Given the description of an element on the screen output the (x, y) to click on. 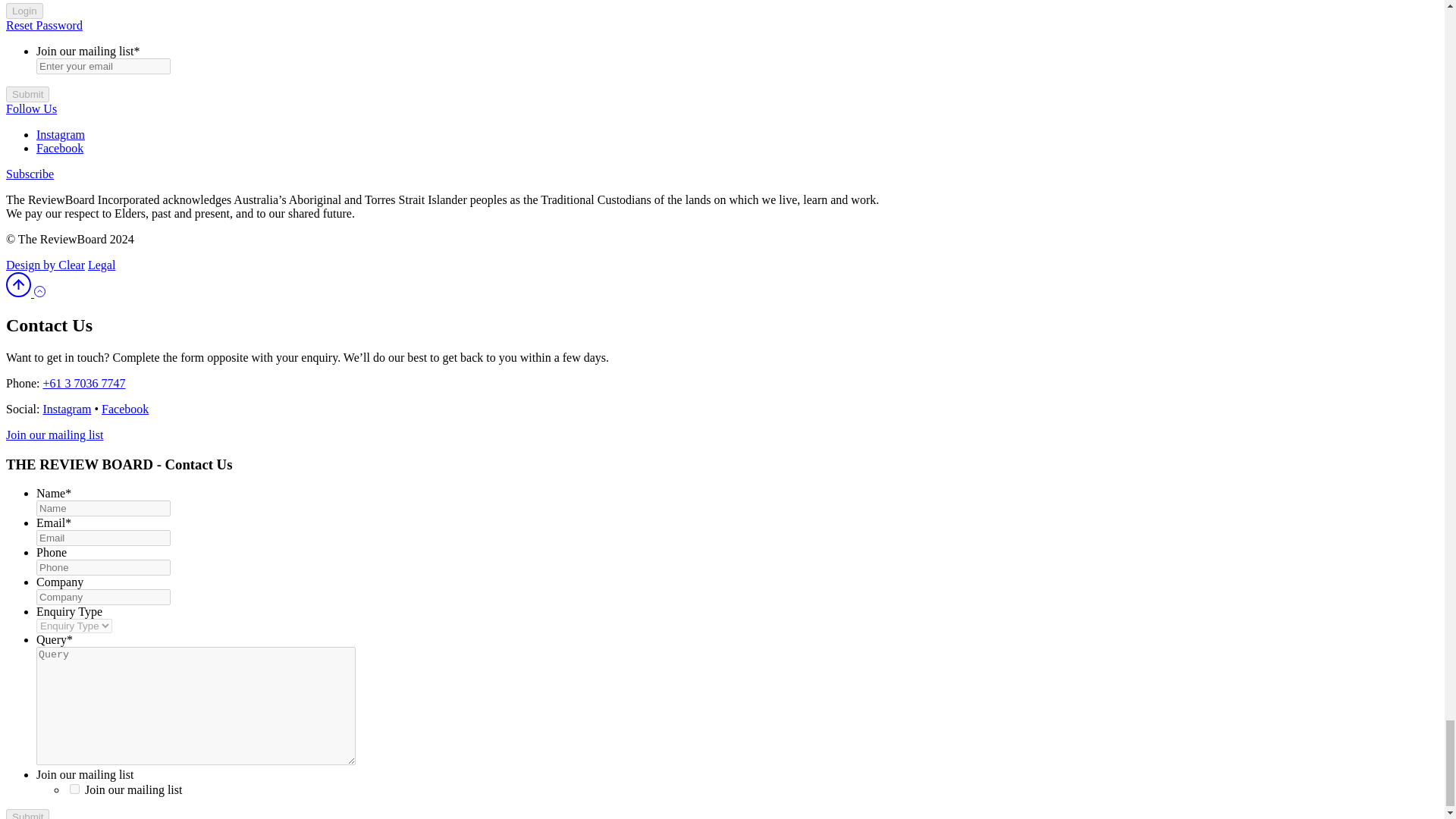
Join our mailing list (74, 788)
Login (24, 10)
Submit (27, 94)
